Given the description of an element on the screen output the (x, y) to click on. 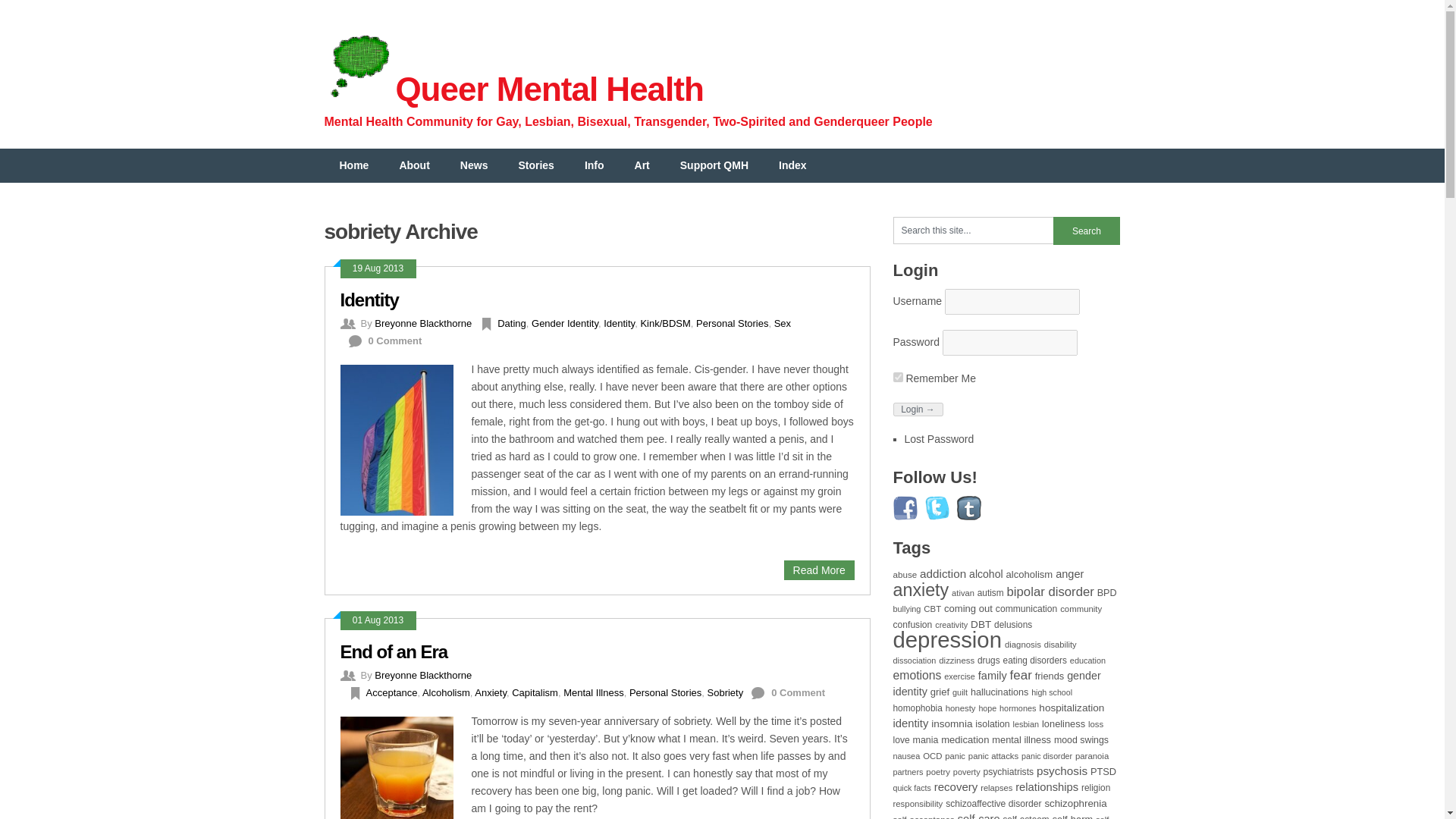
Posts by Breyonne Blackthorne (422, 323)
Posts by Breyonne Blackthorne (422, 674)
About (414, 165)
Index (792, 165)
Breyonne Blackthorne (422, 674)
End of an Era (392, 651)
Mental Illness (593, 692)
Sex (782, 323)
Home (354, 165)
End of an Era (392, 651)
Identity (368, 299)
Info (594, 165)
Stories (535, 165)
Search (1085, 230)
